Given the description of an element on the screen output the (x, y) to click on. 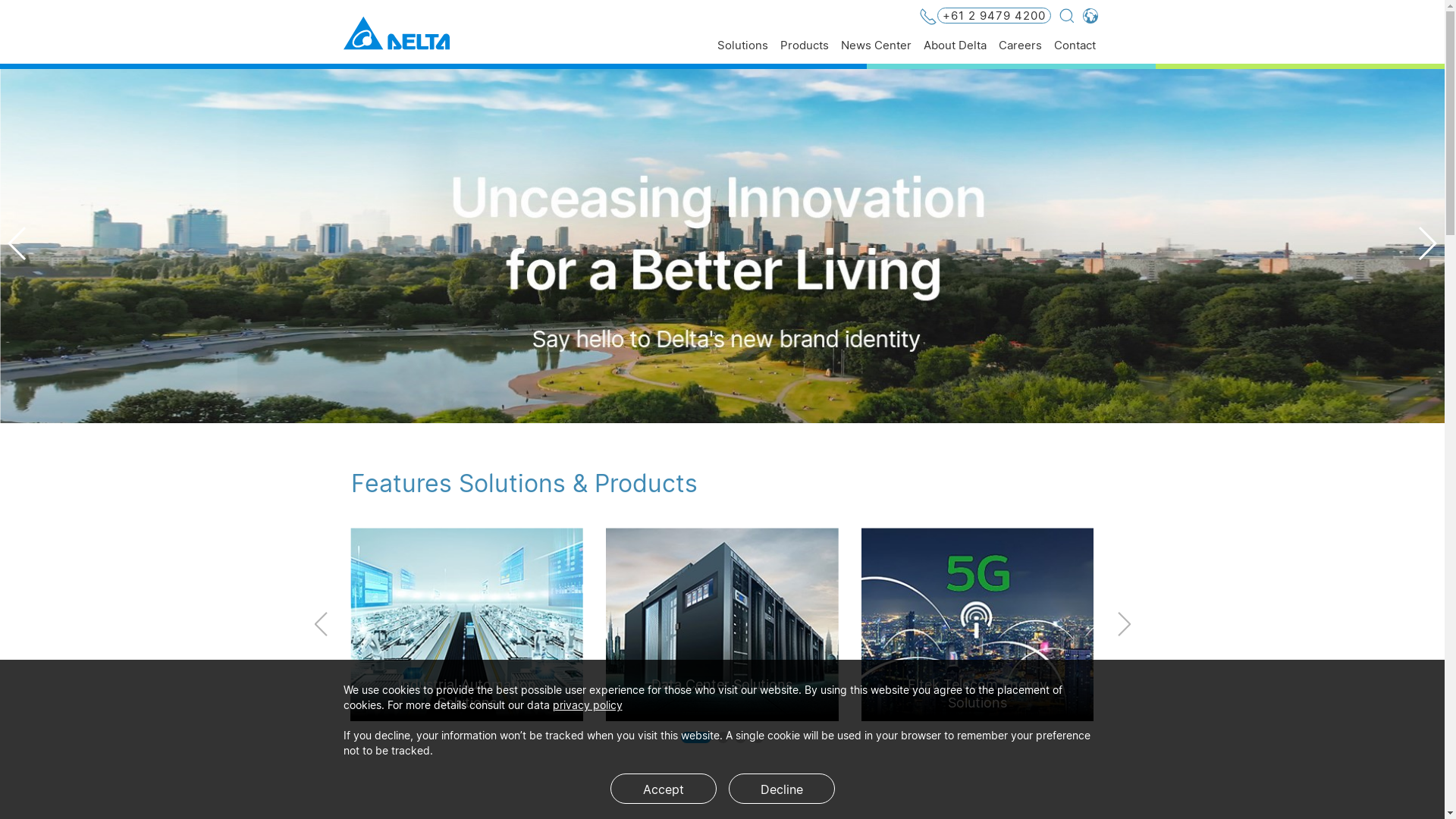
+61 2 9479 4200 Element type: text (985, 16)
About Delta Element type: text (954, 51)
privacy policy Element type: text (586, 704)
Solutions Element type: text (742, 51)
Decline Element type: text (781, 788)
Accept Element type: text (662, 788)
Contact Element type: text (1074, 51)
Careers Element type: text (1019, 51)
News Center Element type: text (875, 51)
Products Element type: text (803, 51)
